Given the description of an element on the screen output the (x, y) to click on. 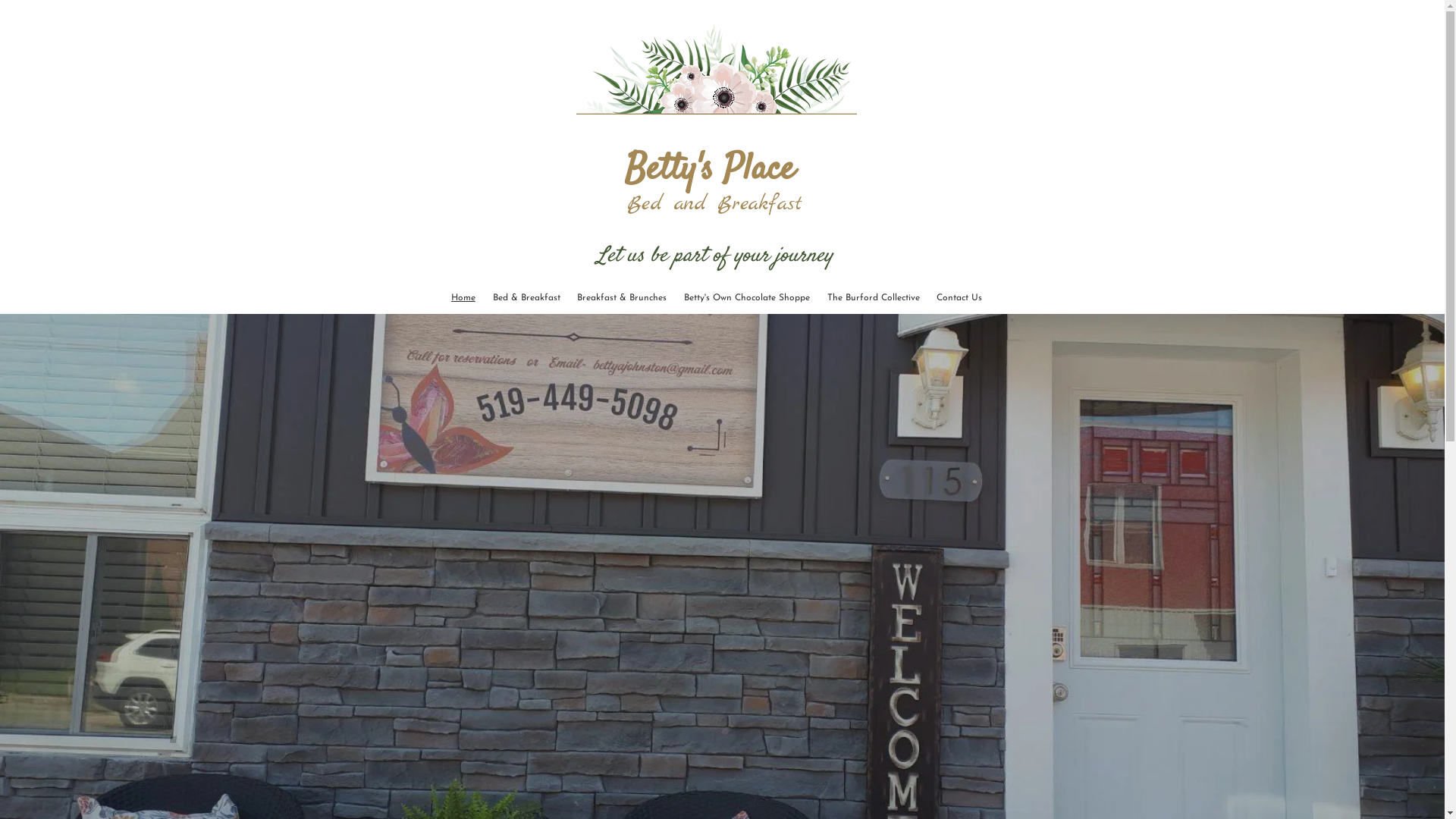
Home Element type: text (463, 297)
Breakfast & Brunches Element type: text (621, 297)
Contact Us Element type: text (959, 297)
Betty's Own Chocolate Shoppe Element type: text (747, 297)
The Burford Collective Element type: text (873, 297)
Bed & Breakfast Element type: text (525, 297)
